Given the description of an element on the screen output the (x, y) to click on. 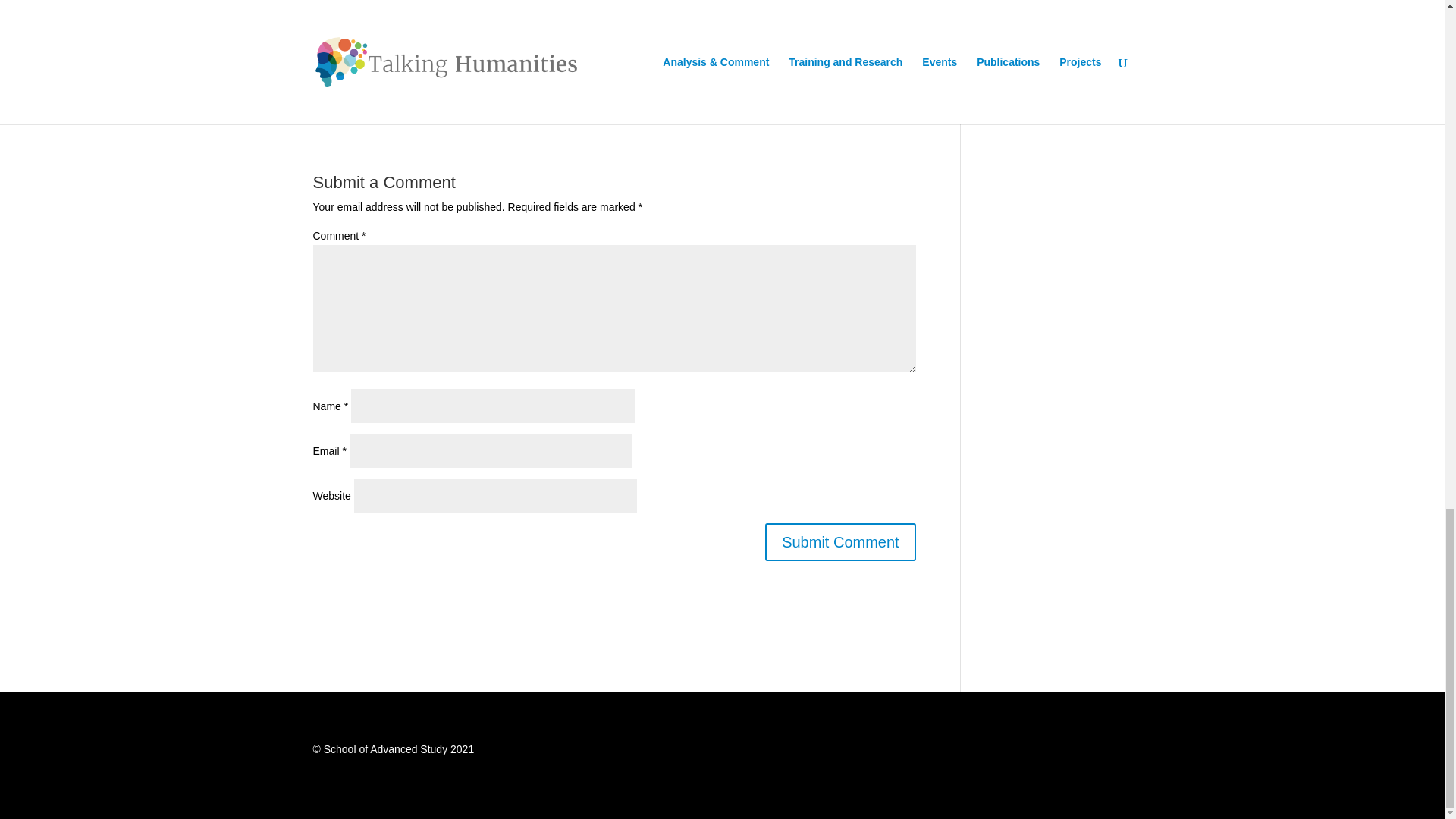
Submit Comment (840, 542)
Dr Karen Attar (348, 47)
Submit Comment (840, 542)
